Given the description of an element on the screen output the (x, y) to click on. 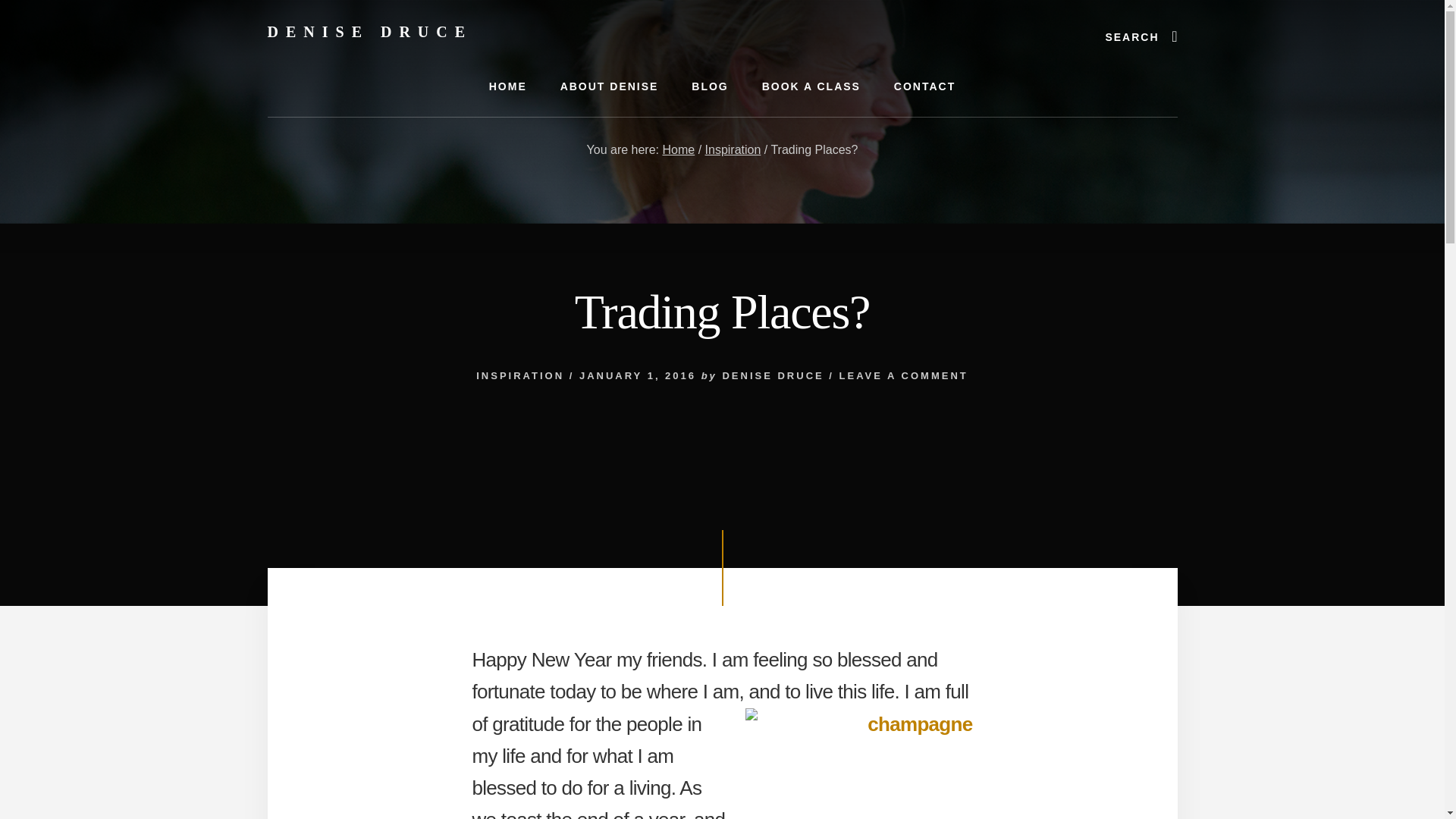
DENISE DRUCE (773, 375)
LEAVE A COMMENT (904, 375)
HOME (507, 86)
CONTACT (925, 86)
ABOUT DENISE (609, 86)
BOOK A CLASS (811, 86)
Inspiration (732, 149)
BLOG (709, 86)
DENISE DRUCE (368, 31)
Home (678, 149)
INSPIRATION (520, 375)
